Given the description of an element on the screen output the (x, y) to click on. 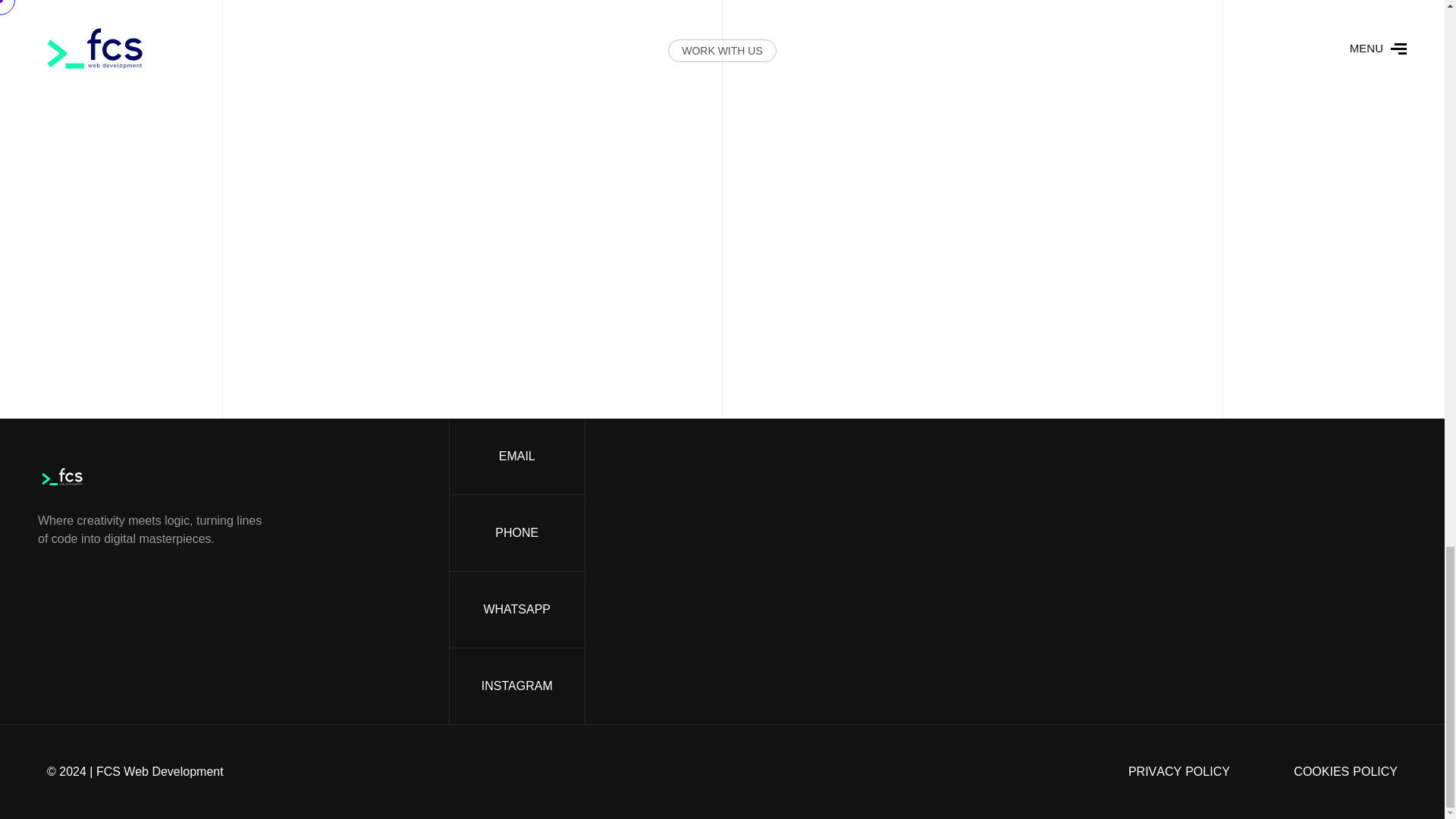
WHATSAPP (516, 609)
Privacy Policy (1179, 771)
Cookies Policy (1345, 771)
INSTAGRAM (1179, 771)
PHONE (1345, 771)
EMAIL (516, 685)
